Given the description of an element on the screen output the (x, y) to click on. 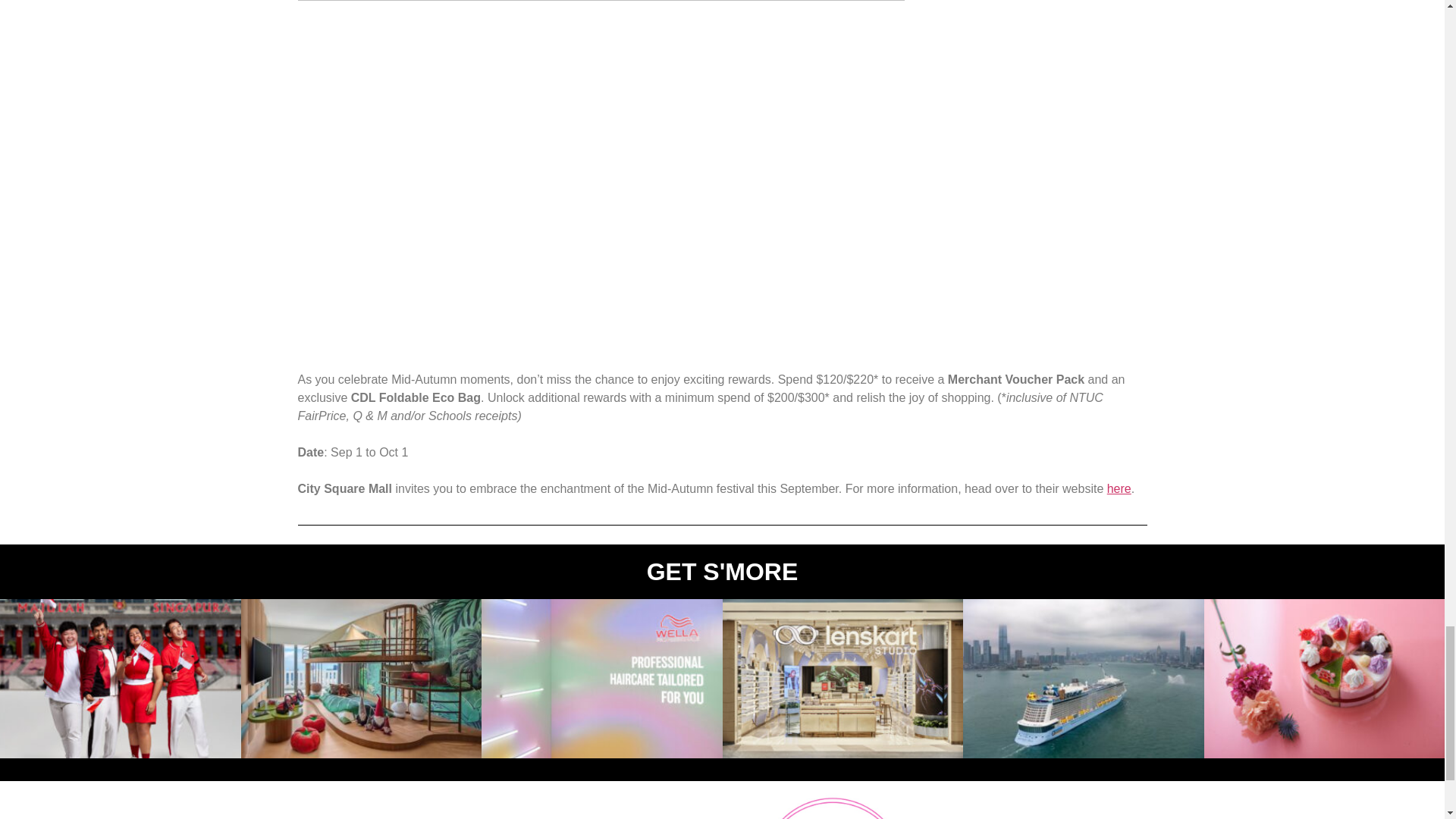
here (1118, 488)
